Given the description of an element on the screen output the (x, y) to click on. 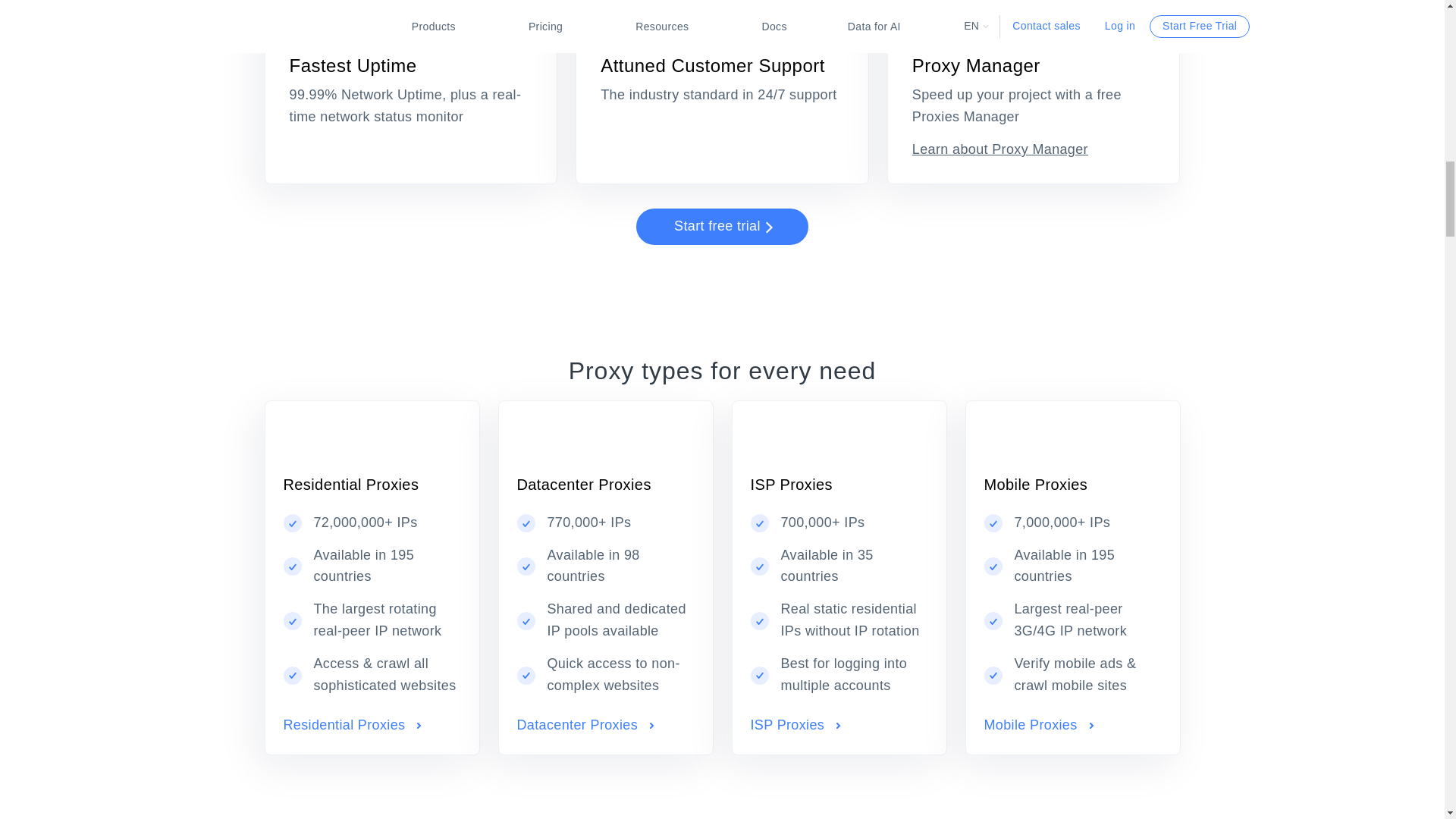
Residential Proxies (352, 725)
ISP Proxies (796, 725)
Datacenter Proxies (585, 725)
Learn about Proxy Manager (999, 149)
Mobile Proxies (1039, 725)
